Given the description of an element on the screen output the (x, y) to click on. 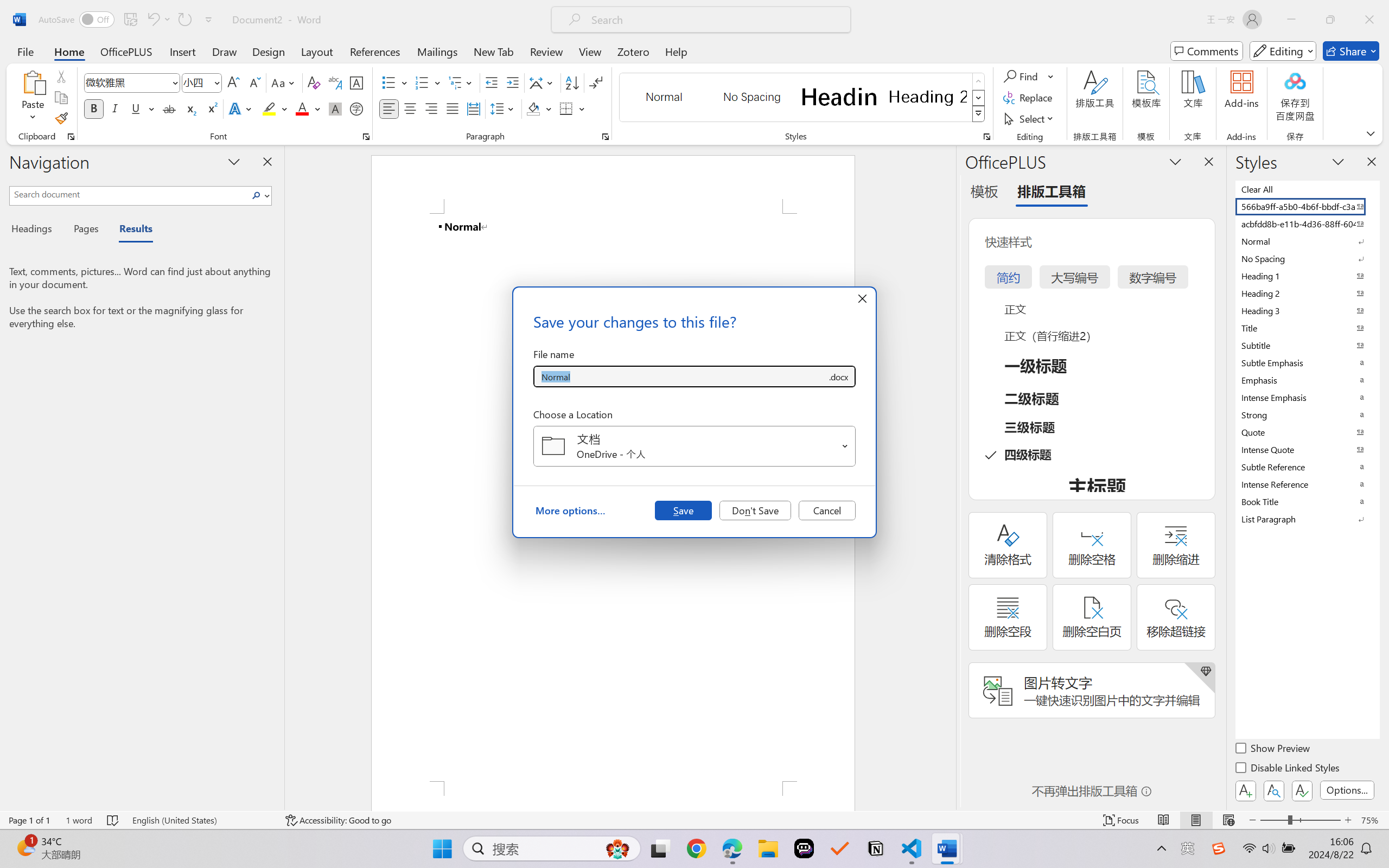
Page Number Page 1 of 1 (29, 819)
Class: Image (1218, 847)
Bullets (395, 82)
Italic (115, 108)
Class: NetUIScrollBar (948, 477)
Ribbon Display Options (1370, 132)
Draw (224, 51)
Office Clipboard... (70, 136)
